Given the description of an element on the screen output the (x, y) to click on. 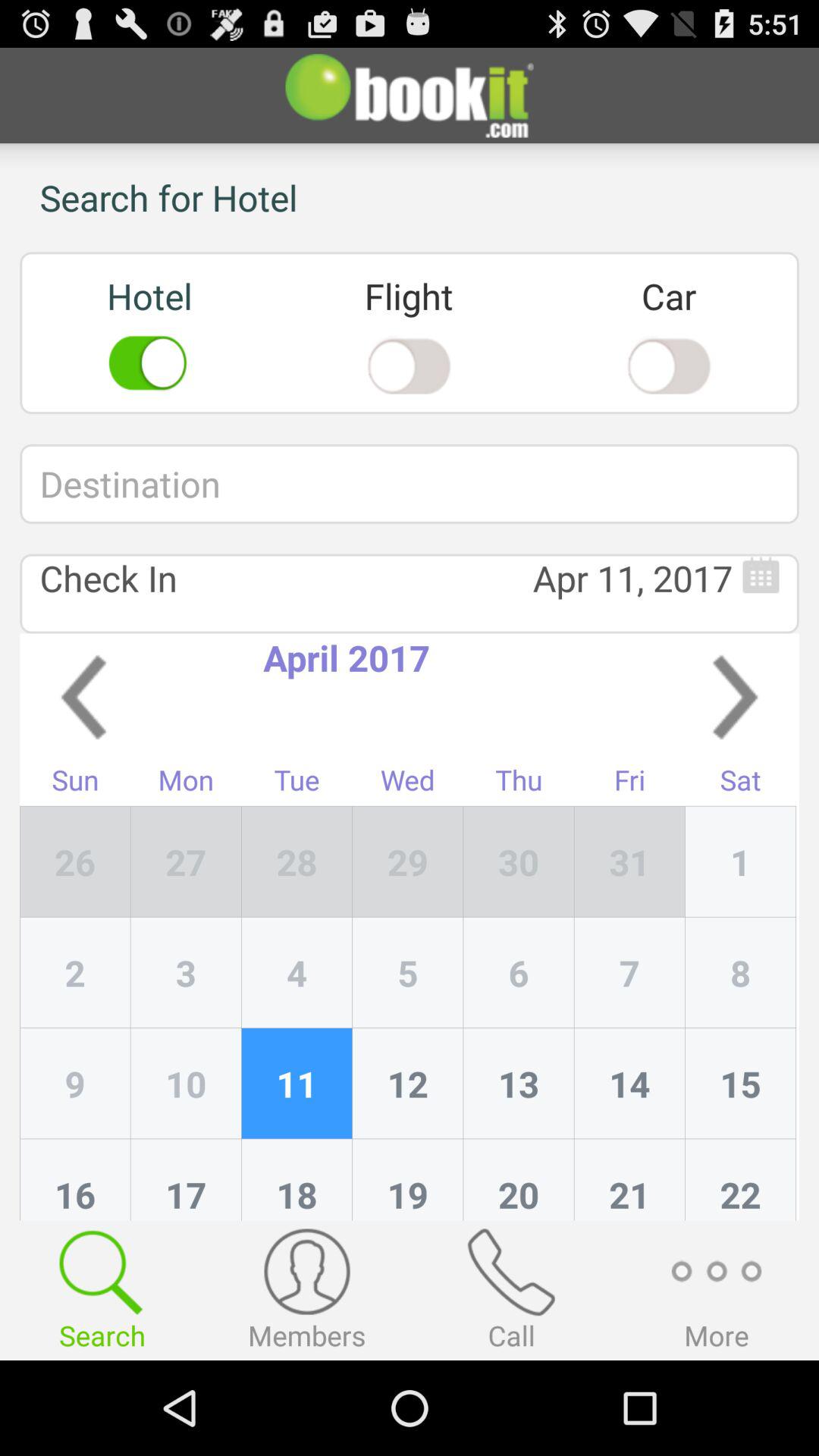
flip until the 13 icon (518, 1083)
